Given the description of an element on the screen output the (x, y) to click on. 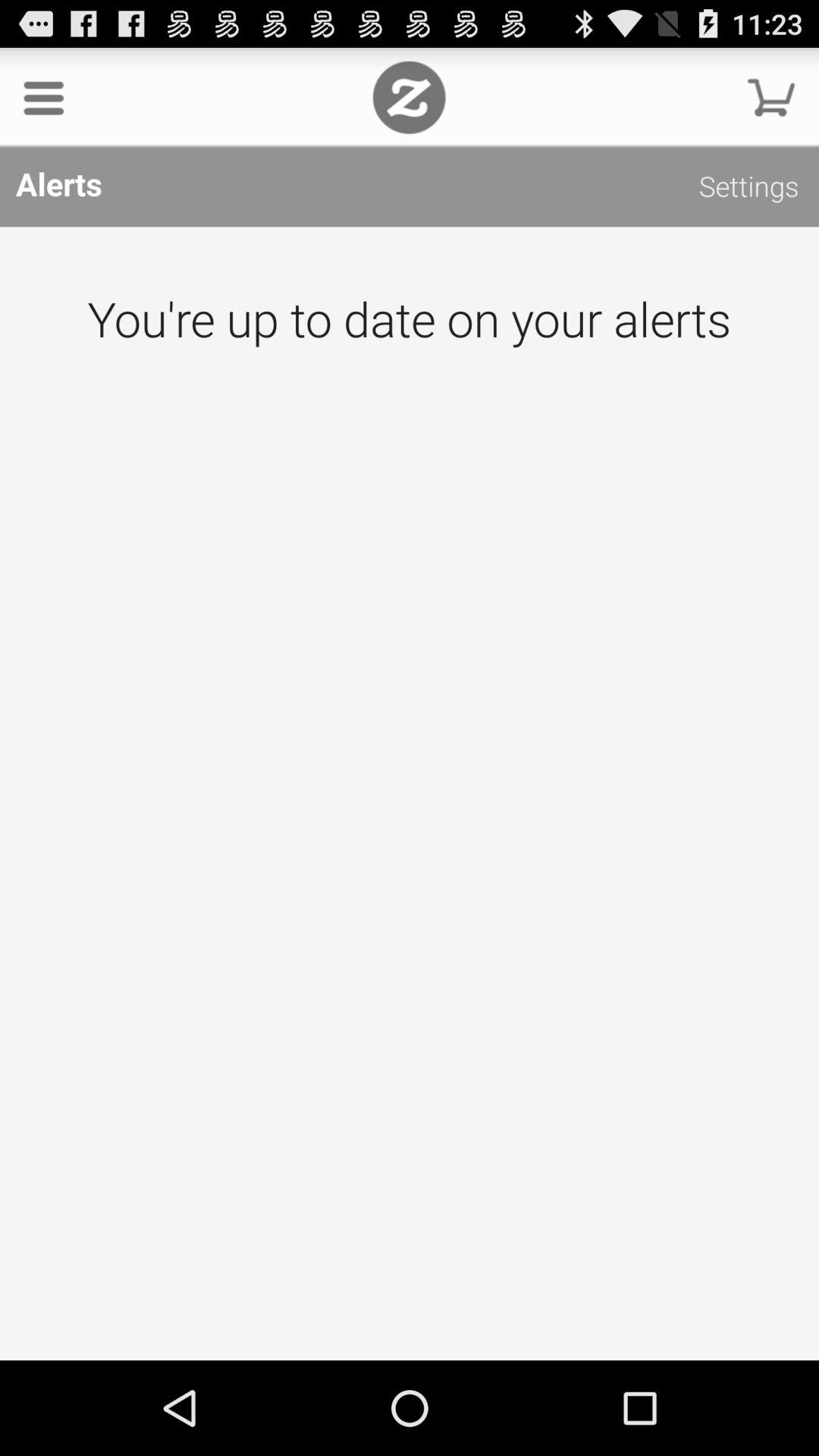
turn on settings (749, 189)
